Given the description of an element on the screen output the (x, y) to click on. 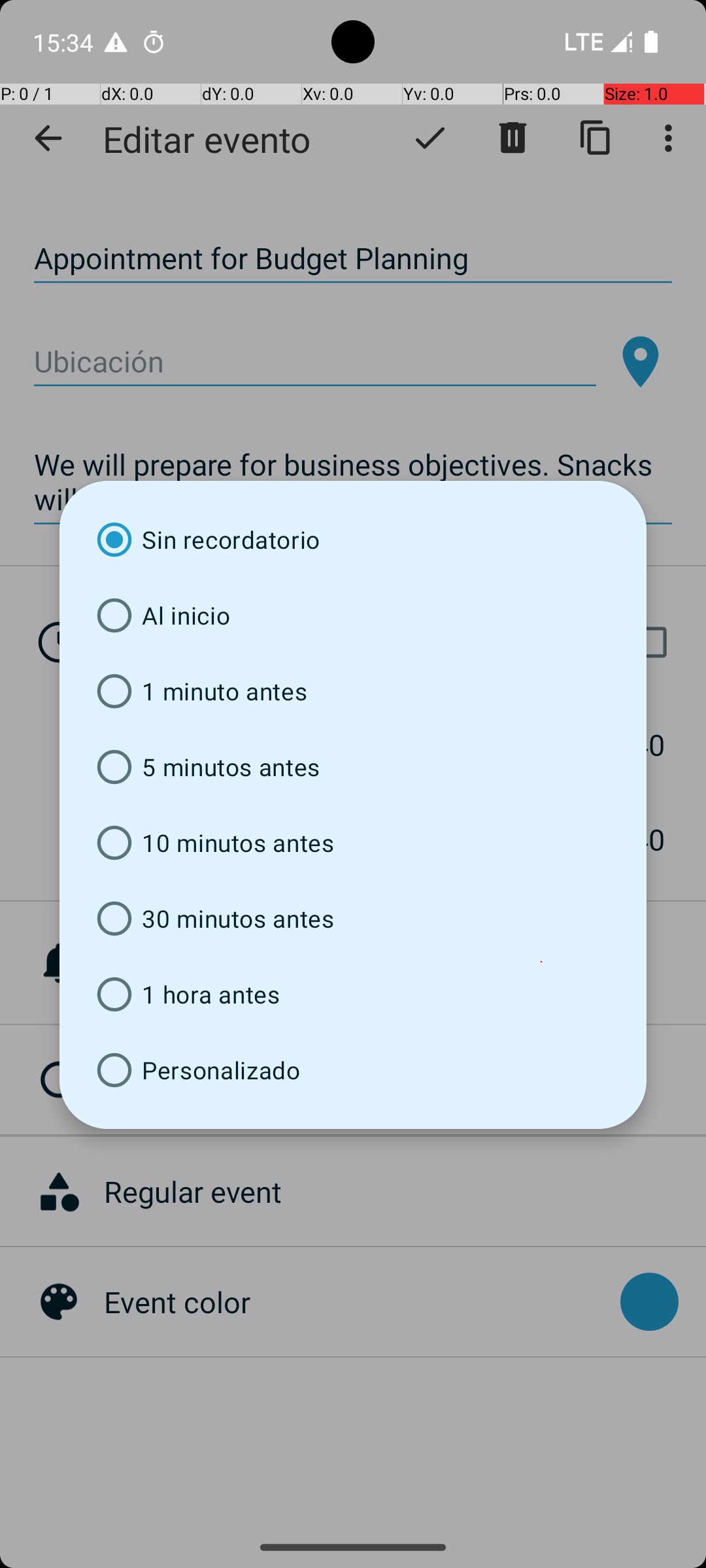
Sin recordatorio Element type: android.widget.RadioButton (352, 539)
Al inicio Element type: android.widget.RadioButton (352, 615)
1 minuto antes Element type: android.widget.RadioButton (352, 691)
5 minutos antes Element type: android.widget.RadioButton (352, 766)
10 minutos antes Element type: android.widget.RadioButton (352, 842)
30 minutos antes Element type: android.widget.RadioButton (352, 918)
1 hora antes Element type: android.widget.RadioButton (352, 994)
Personalizado Element type: android.widget.RadioButton (352, 1070)
